Given the description of an element on the screen output the (x, y) to click on. 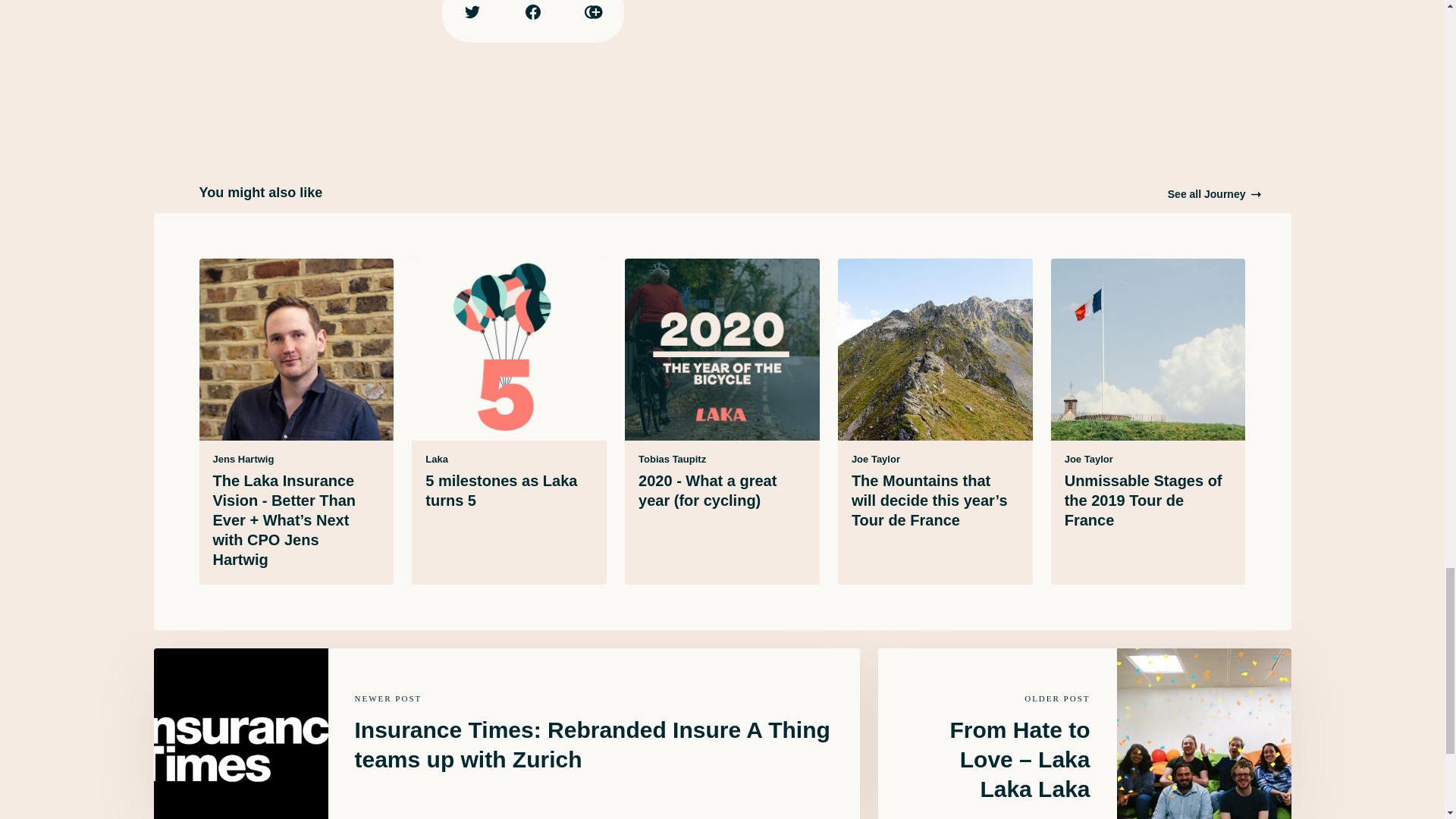
Laka (436, 459)
Joe Taylor (875, 459)
Joe Taylor (1088, 459)
Unmissable Stages of the 2019 Tour de France (1143, 500)
5 milestones as Laka turns 5 (500, 490)
Tobias Taupitz (672, 459)
Jens Hartwig (242, 459)
See all Journey (1213, 194)
